Given the description of an element on the screen output the (x, y) to click on. 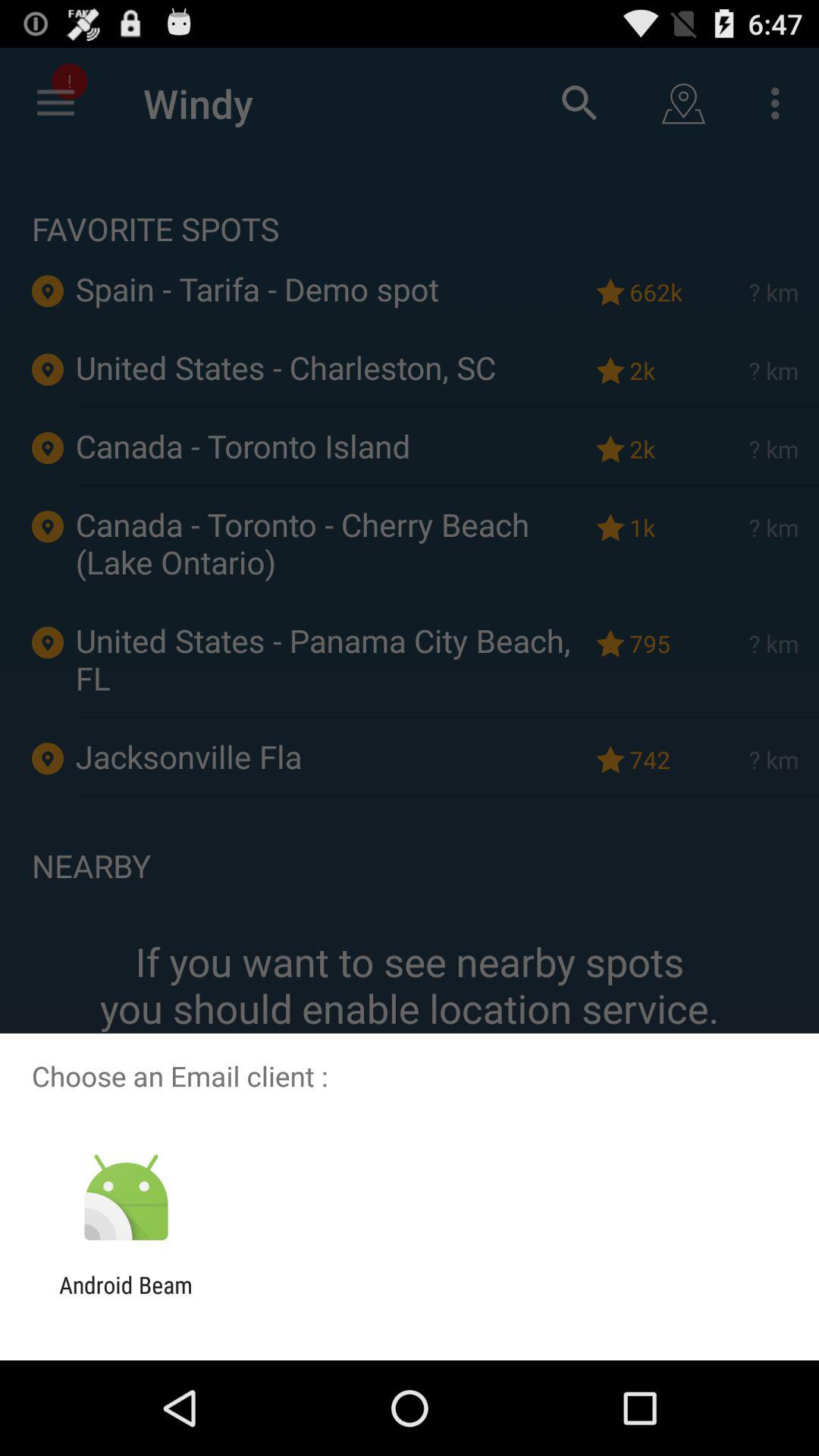
choose the icon above android beam (126, 1198)
